Given the description of an element on the screen output the (x, y) to click on. 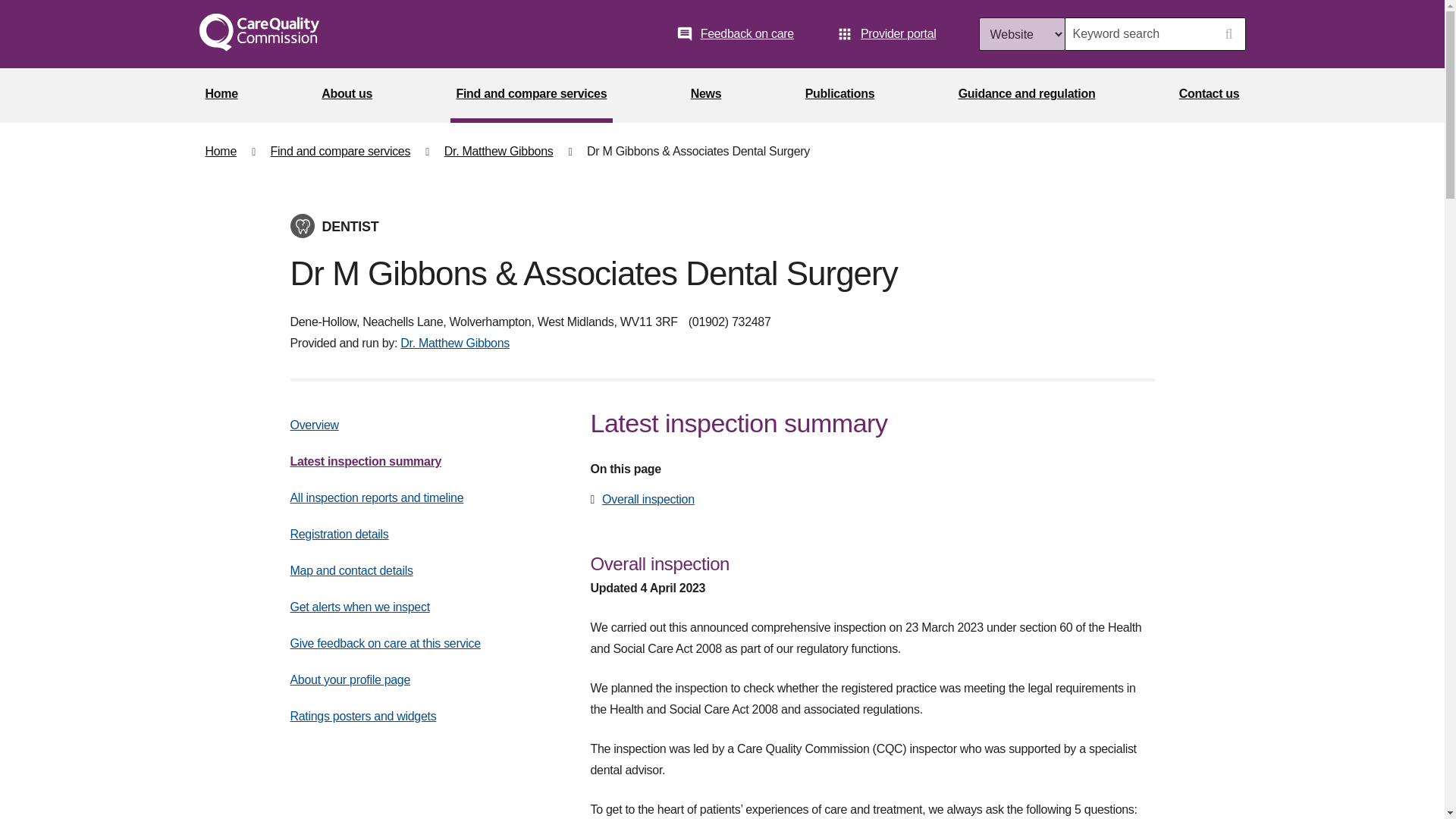
Map and contact details (350, 570)
Find and compare services (340, 151)
Contact us (1209, 94)
The Care Quality Commission (258, 34)
Publications (839, 94)
Give feedback on care at this service (384, 643)
Guidance and regulation (1027, 94)
Dr. Matthew Gibbons (454, 342)
Provider portal (885, 33)
Latest inspection summary (365, 461)
